Given the description of an element on the screen output the (x, y) to click on. 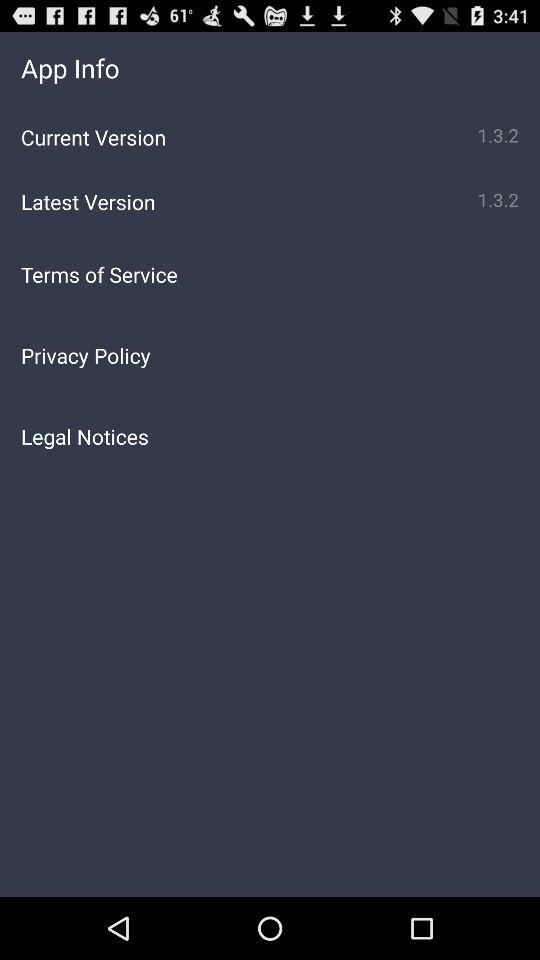
swipe until the terms of service (270, 274)
